Given the description of an element on the screen output the (x, y) to click on. 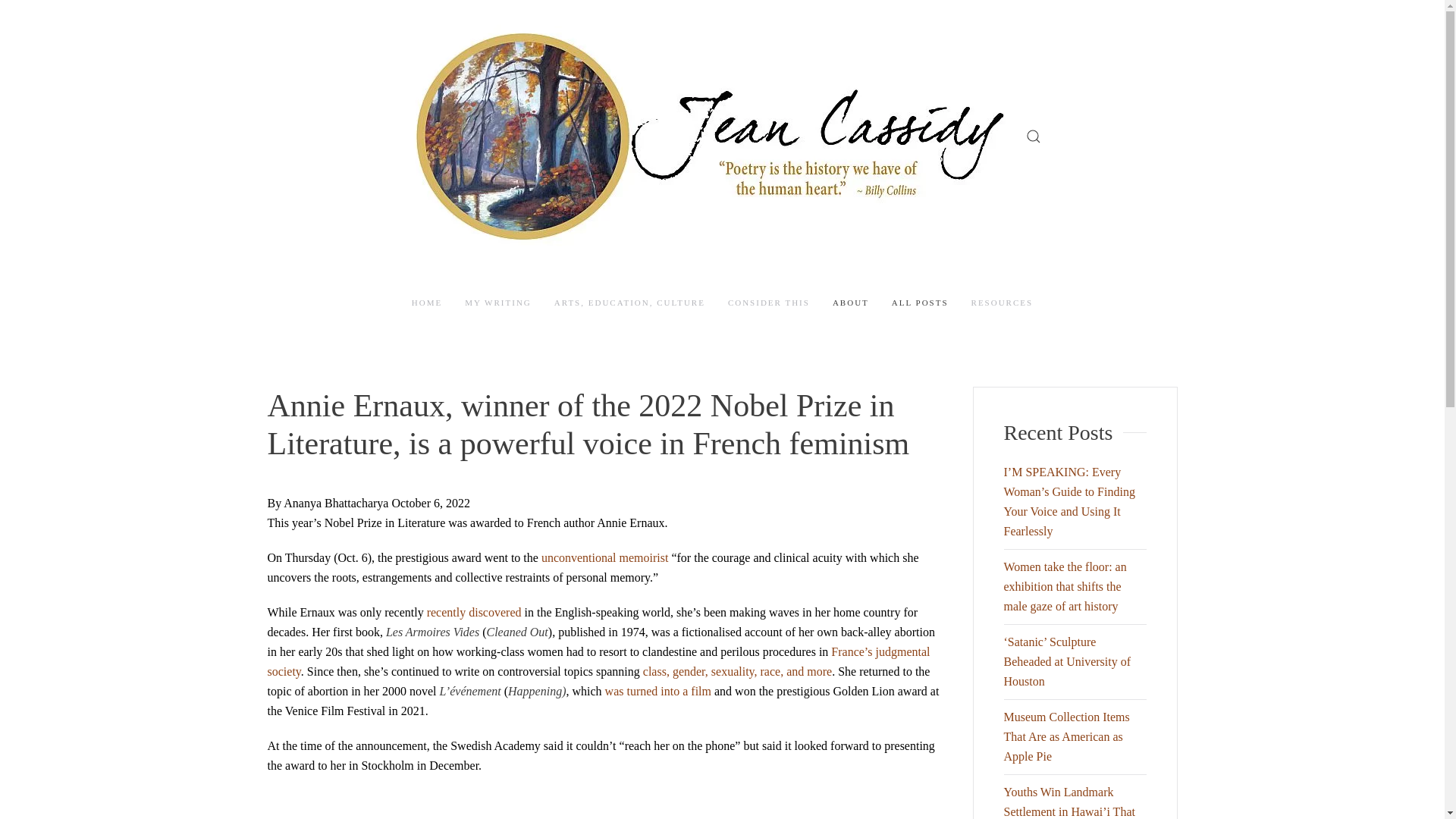
ARTS, EDUCATION, CULTURE (629, 302)
was turned into a film (658, 690)
MY WRITING (497, 302)
Museum Collection Items That Are as American as Apple Pie (1066, 736)
CONSIDER THIS (768, 302)
unconventional memoirist (604, 557)
ALL POSTS (920, 302)
class, gender, sexuality, race, and more (737, 671)
RESOURCES (1002, 302)
recently discovered (473, 612)
